Given the description of an element on the screen output the (x, y) to click on. 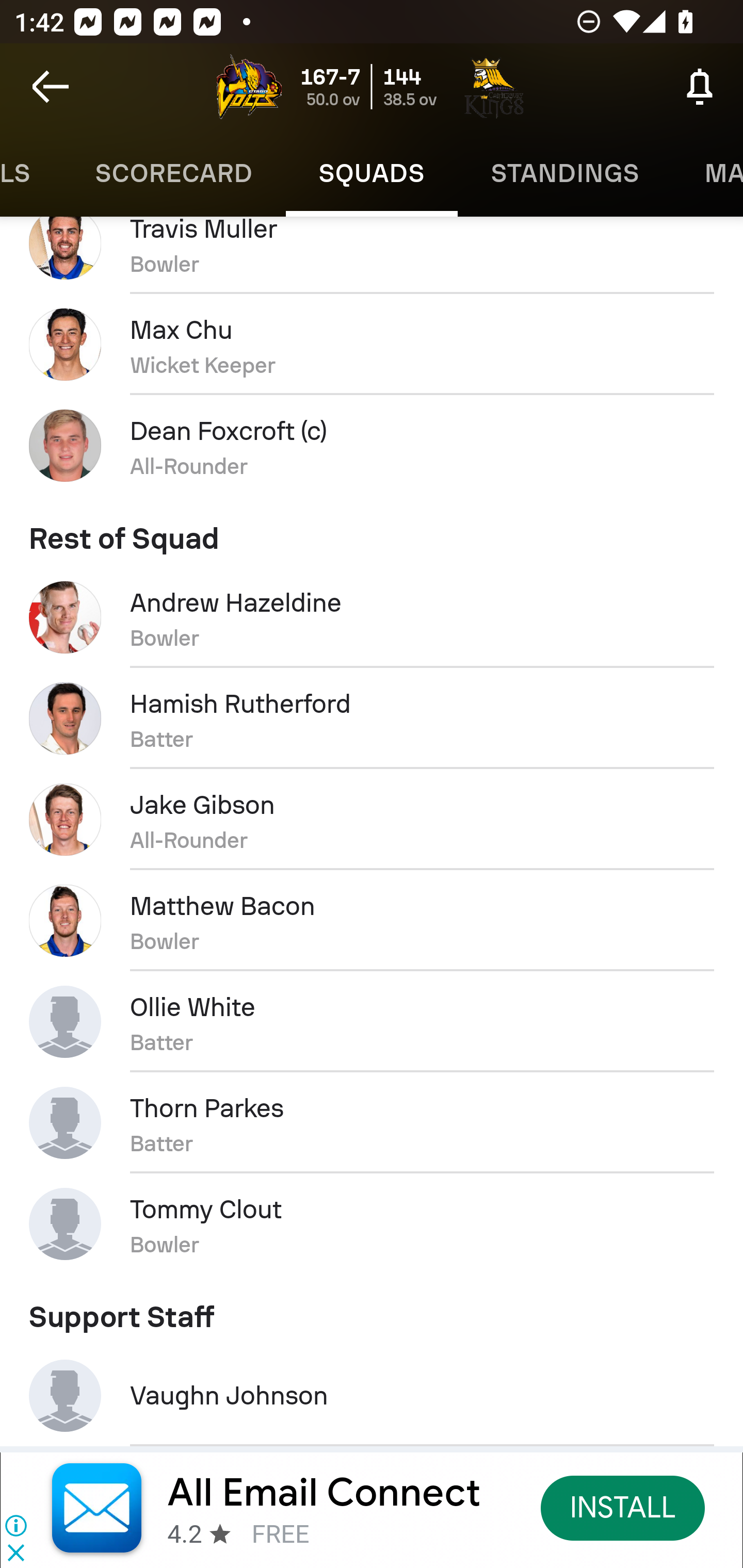
Navigate up (50, 86)
Scorecard SCORECARD (174, 173)
Standings STANDINGS (563, 173)
Travis Muller Bowler (371, 255)
Max Chu Wicket Keeper (371, 344)
Dean Foxcroft (c) All-Rounder (371, 445)
Rest of Squad (371, 531)
Andrew Hazeldine Bowler (371, 617)
Hamish Rutherford Batter (371, 717)
Jake Gibson All-Rounder (371, 819)
Matthew Bacon Bowler (371, 920)
Ollie White Batter (371, 1021)
Thorn Parkes Batter (371, 1122)
Tommy Clout Bowler (371, 1223)
Support Staff (371, 1309)
Vaughn Johnson (371, 1395)
All Email Connect (324, 1493)
INSTALL (623, 1507)
